Given the description of an element on the screen output the (x, y) to click on. 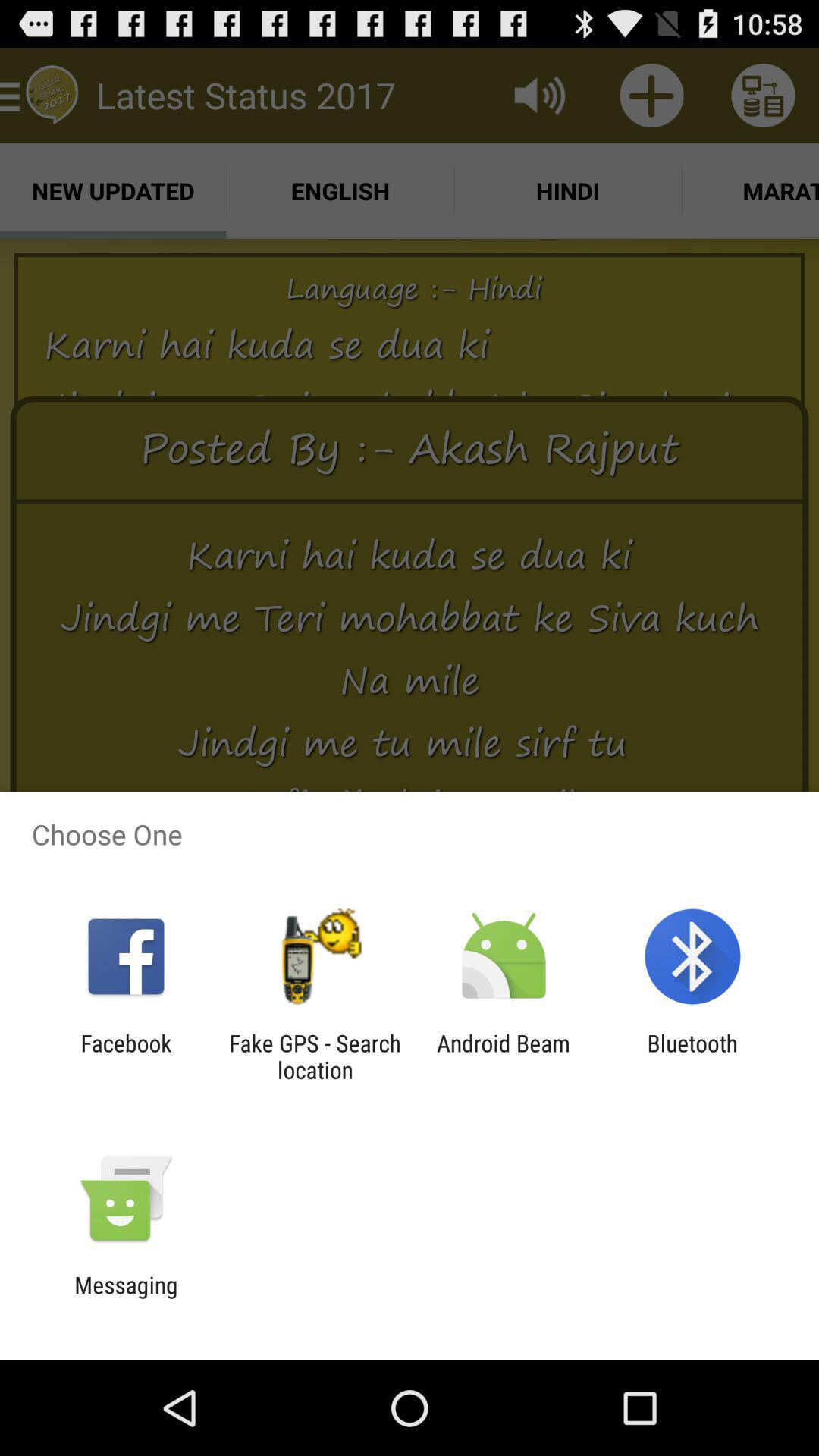
choose the app to the right of the android beam item (692, 1056)
